Given the description of an element on the screen output the (x, y) to click on. 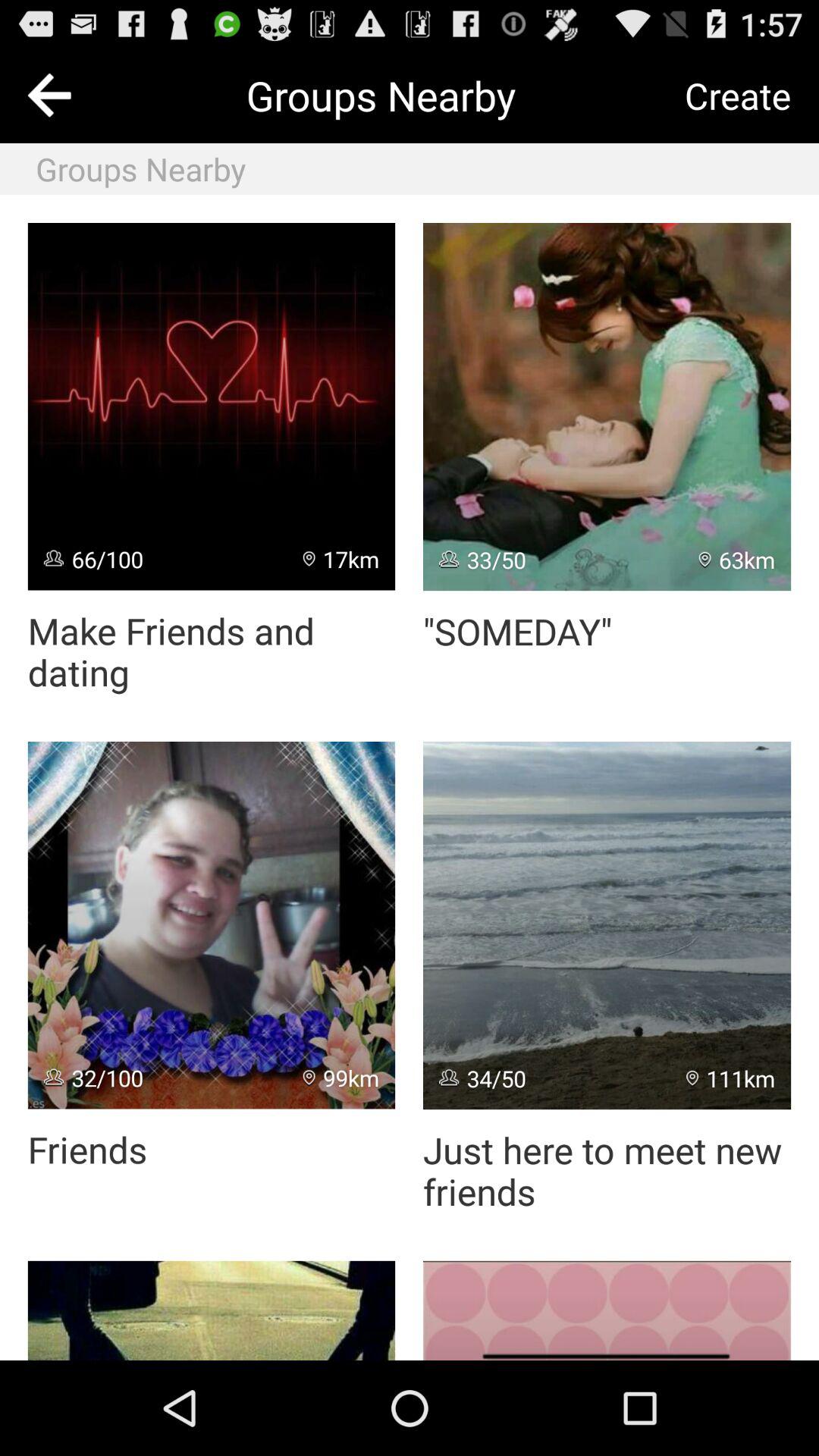
click app above the just here to (730, 1077)
